Given the description of an element on the screen output the (x, y) to click on. 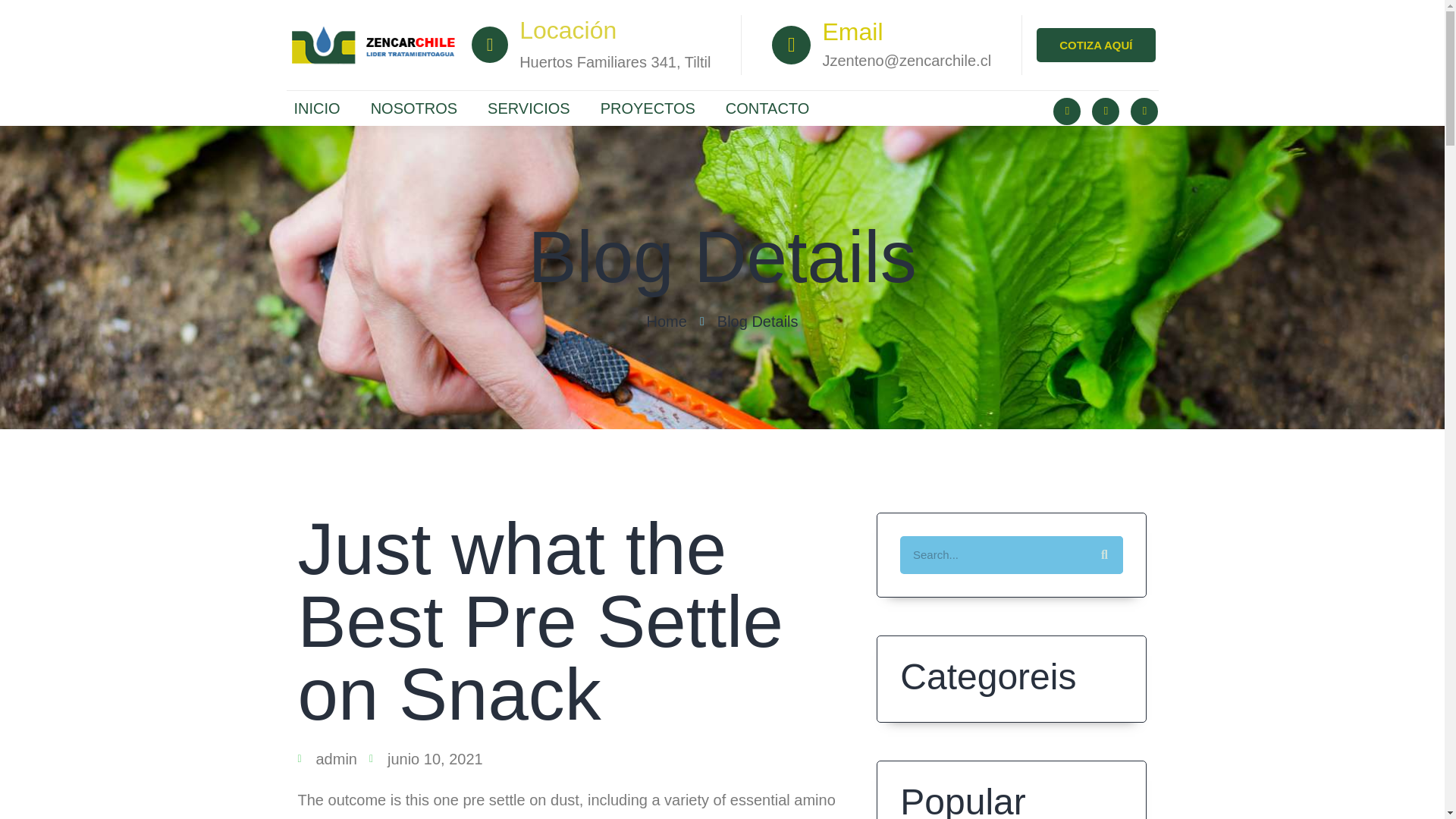
admin (326, 765)
PROYECTOS (647, 108)
CONTACTO (767, 108)
SERVICIOS (528, 108)
Home (665, 328)
junio 10, 2021 (426, 764)
NOSOTROS (413, 108)
INICIO (317, 108)
